Given the description of an element on the screen output the (x, y) to click on. 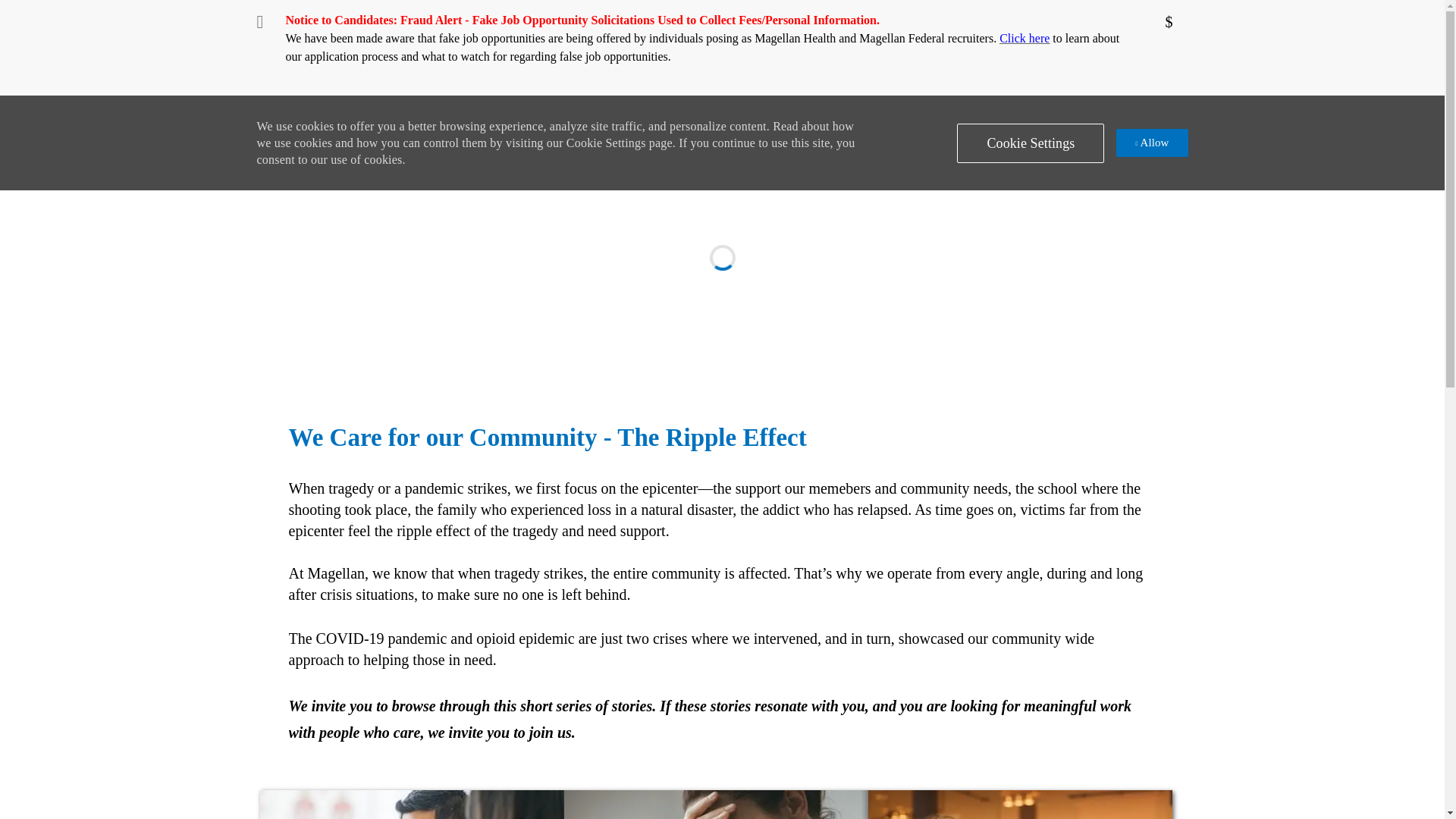
Click here (1023, 38)
Allow (1152, 142)
opioid epidemic (524, 638)
Cookie Settings (1029, 142)
